Given the description of an element on the screen output the (x, y) to click on. 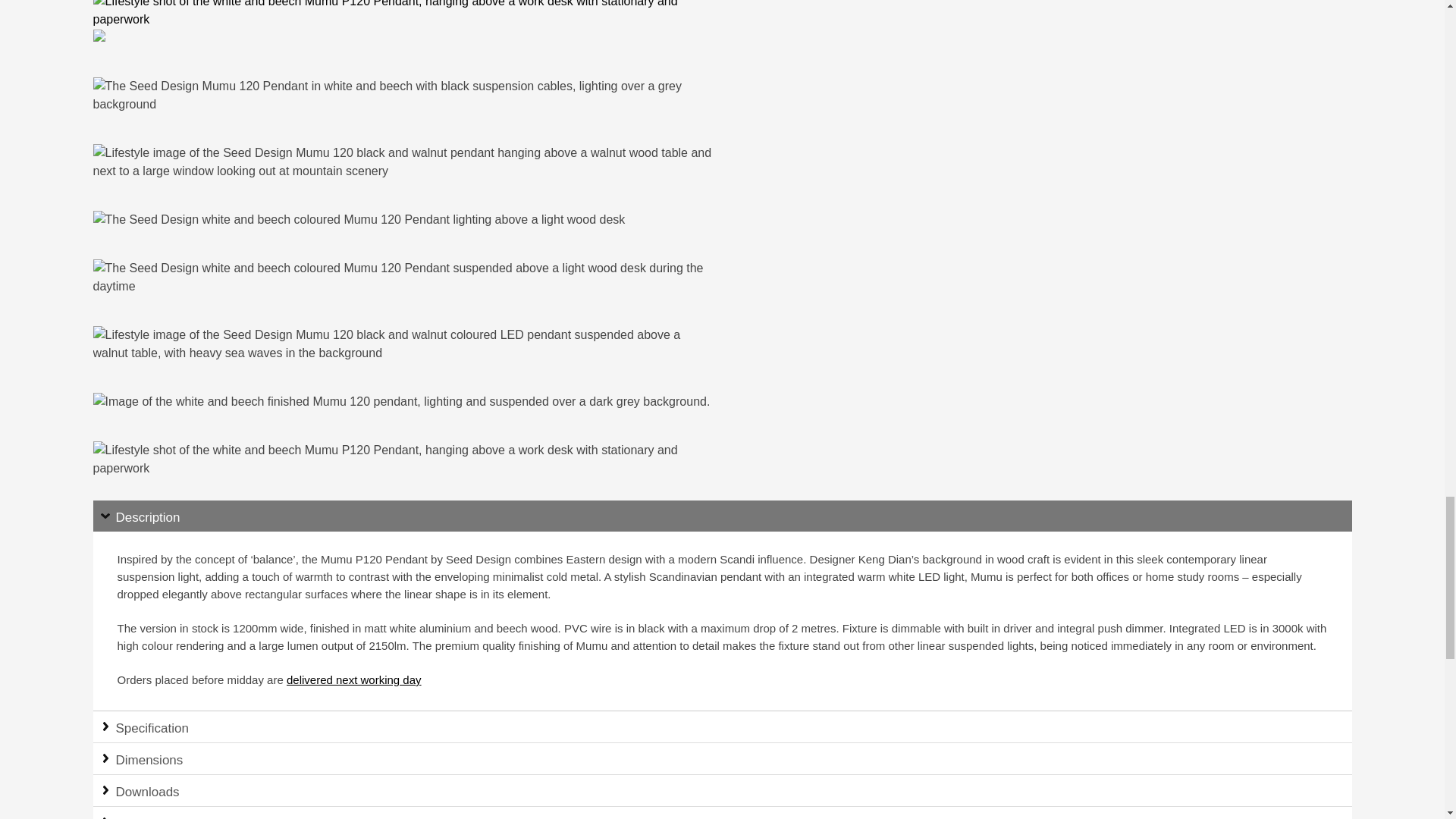
Delivery Information (354, 679)
